Given the description of an element on the screen output the (x, y) to click on. 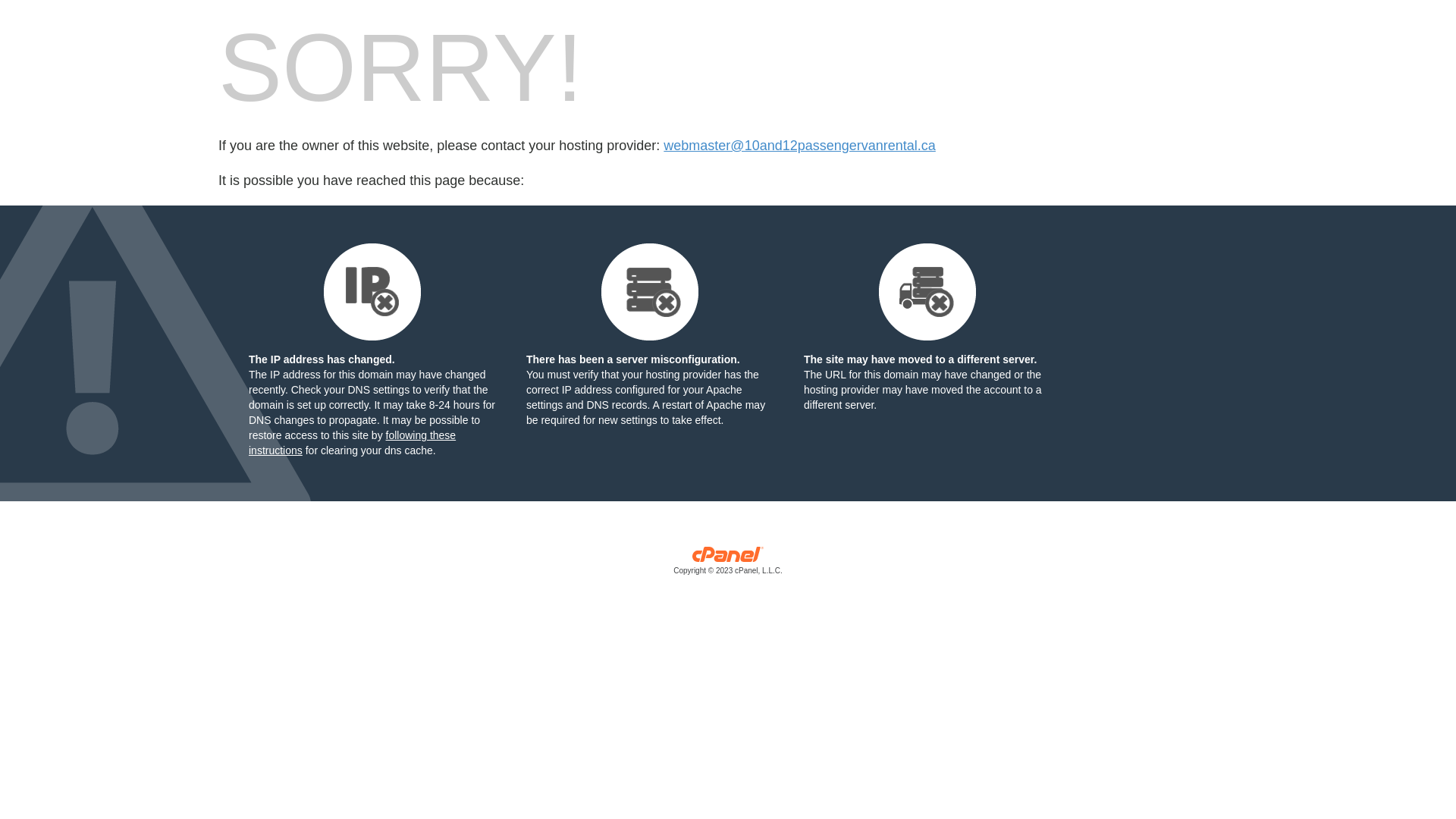
webmaster@10and12passengervanrental.ca Element type: text (799, 145)
following these instructions Element type: text (351, 442)
